Given the description of an element on the screen output the (x, y) to click on. 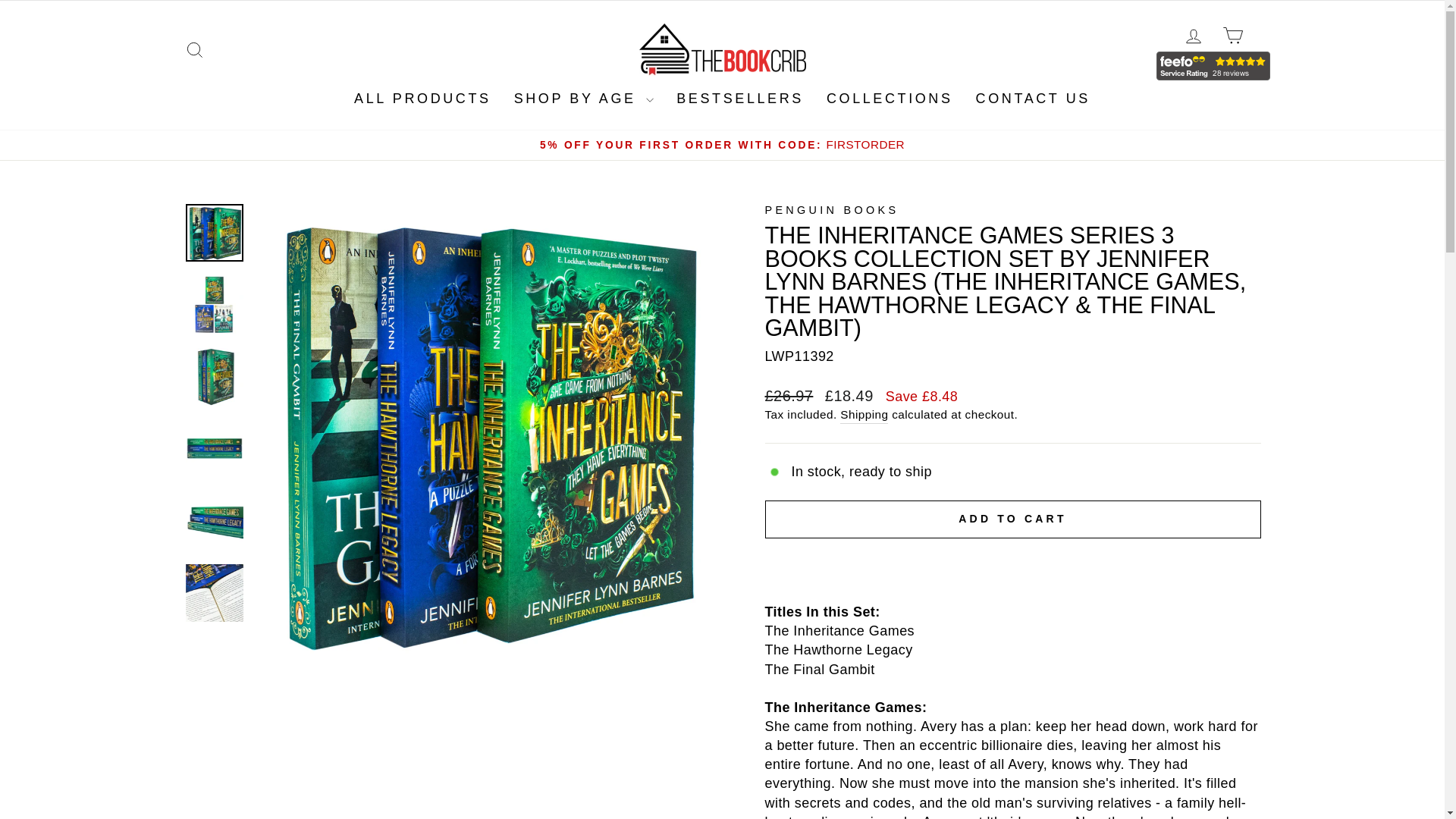
BESTSELLERS (740, 99)
CART (1232, 34)
ALL PRODUCTS (422, 99)
ACCOUNT (1193, 35)
COLLECTIONS (1192, 34)
Penguin Books (889, 99)
See what our customers say about us (831, 209)
ICON-SEARCH (1212, 65)
